Given the description of an element on the screen output the (x, y) to click on. 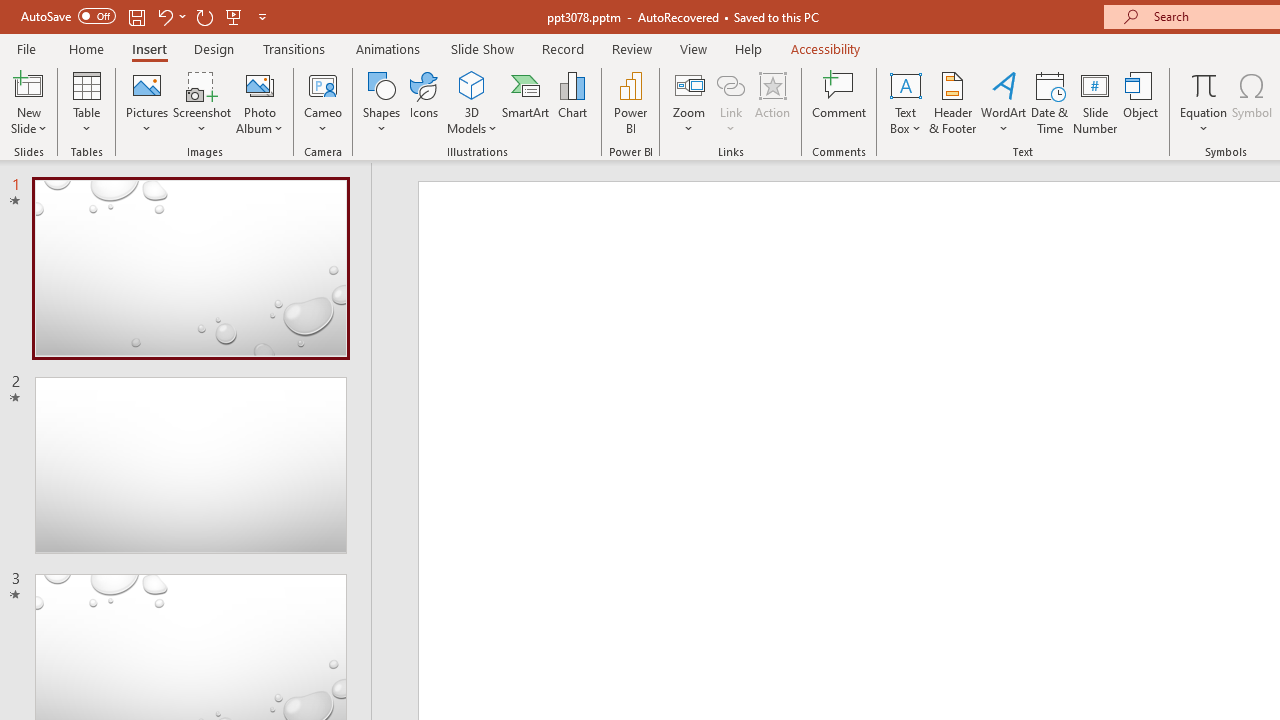
Comment (839, 102)
Chart... (572, 102)
WordArt (1004, 102)
Icons (424, 102)
